Given the description of an element on the screen output the (x, y) to click on. 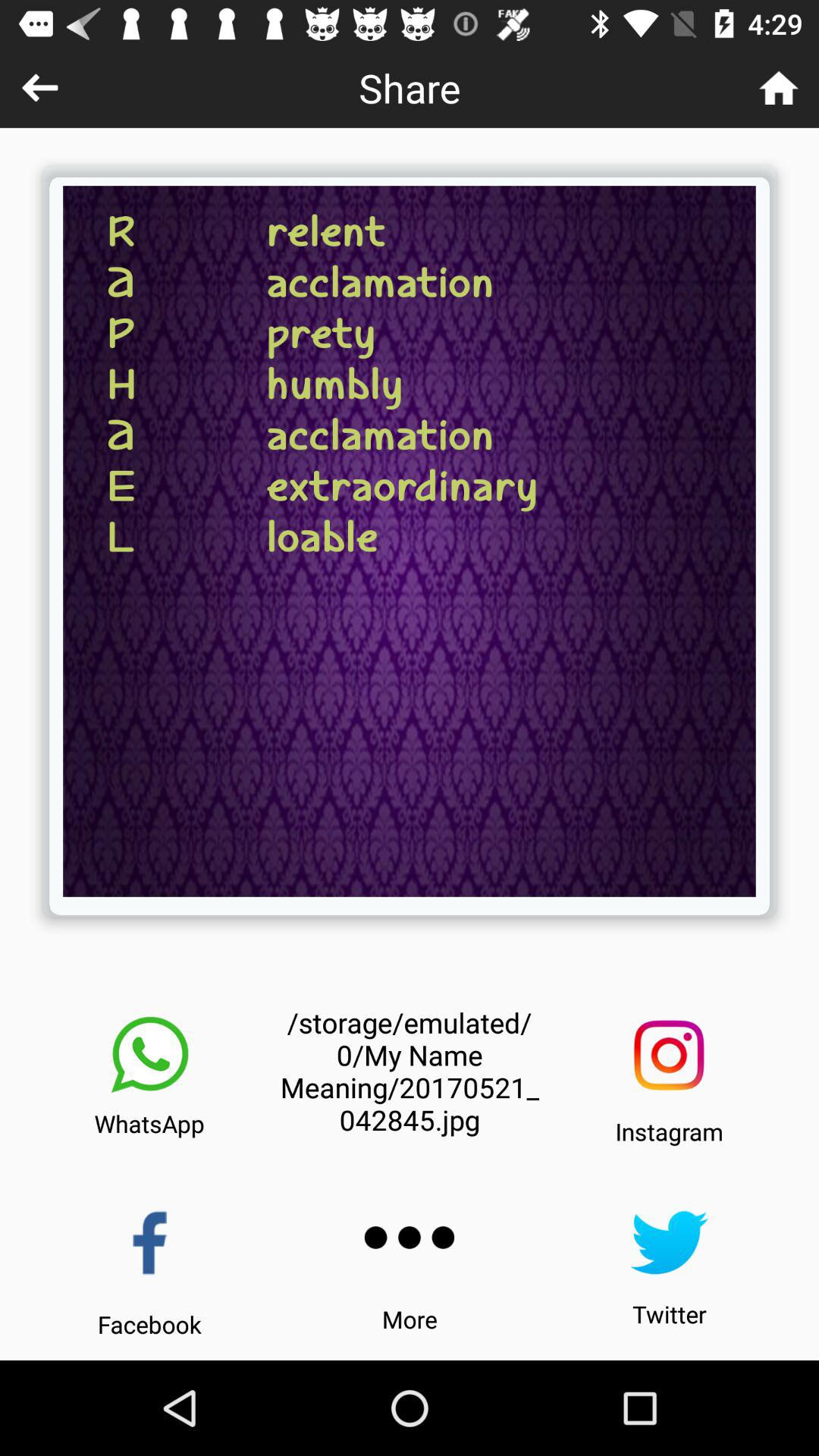
click for more (409, 1237)
